Given the description of an element on the screen output the (x, y) to click on. 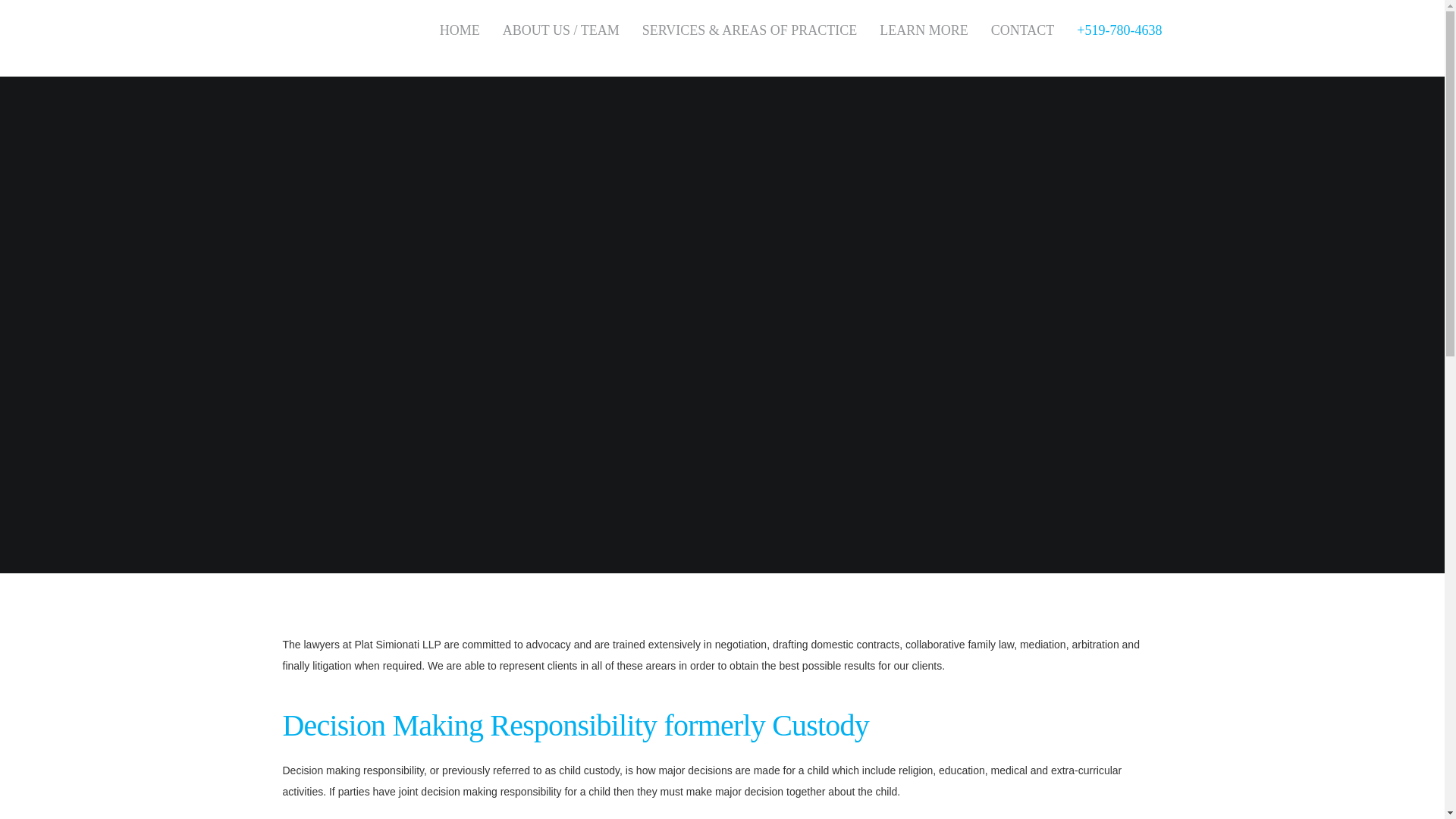
CONTACT (1022, 30)
LEARN MORE (923, 30)
HOME (460, 30)
